Given the description of an element on the screen output the (x, y) to click on. 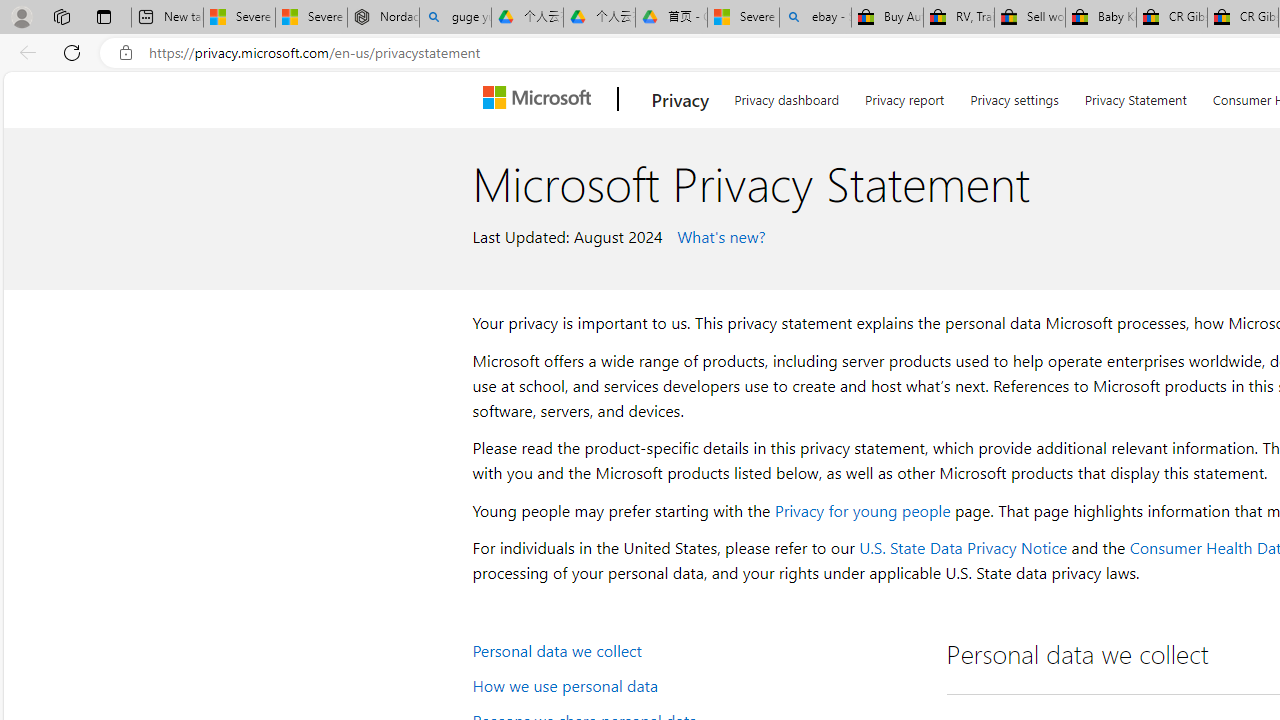
Privacy report (904, 96)
Privacy report (904, 96)
Microsoft (541, 99)
Privacy Statement (1135, 96)
Privacy settings (1014, 96)
Personal data we collect (696, 650)
Privacy Statement (1135, 96)
